Given the description of an element on the screen output the (x, y) to click on. 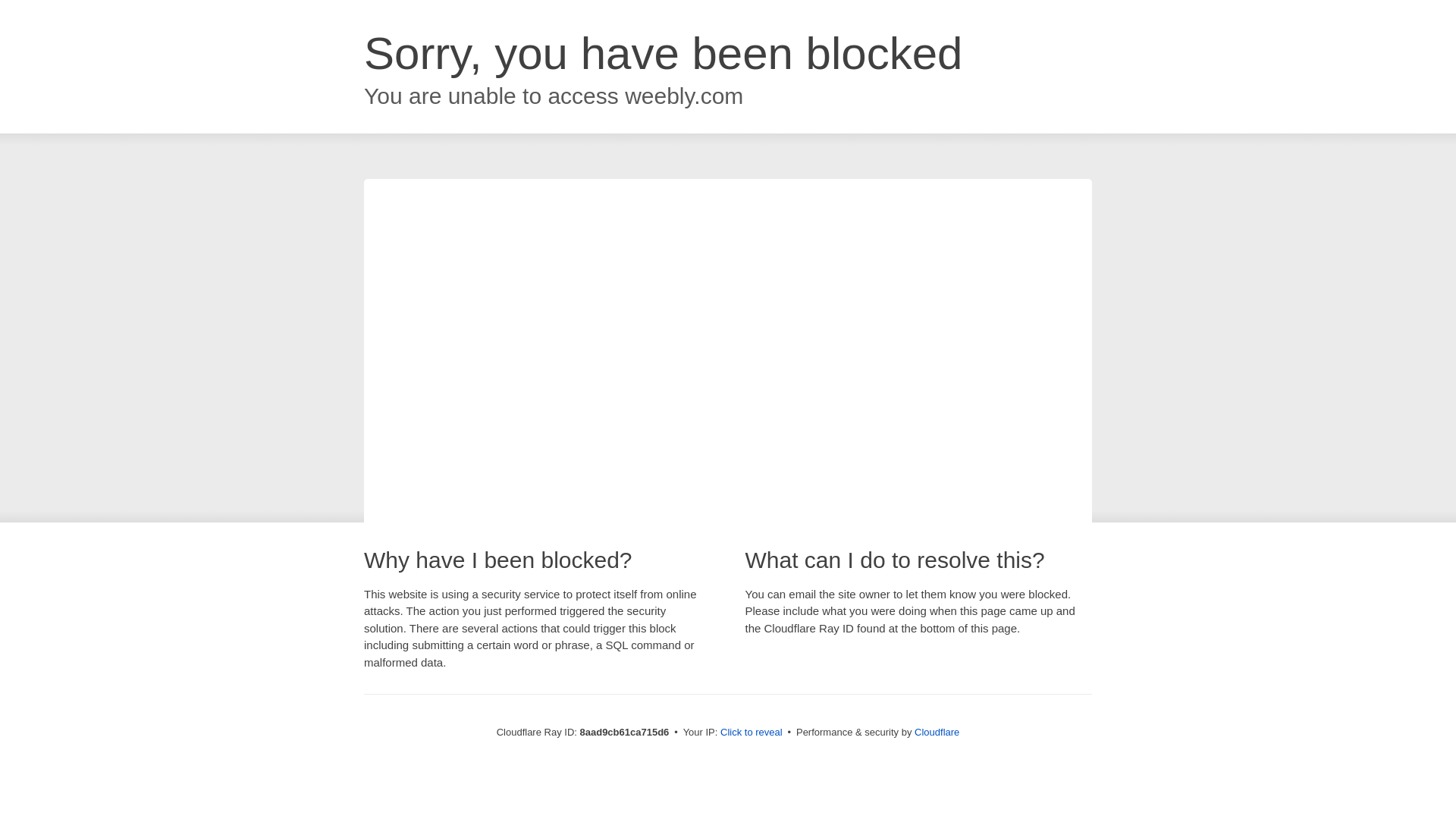
Click to reveal (751, 732)
Cloudflare (936, 731)
